Given the description of an element on the screen output the (x, y) to click on. 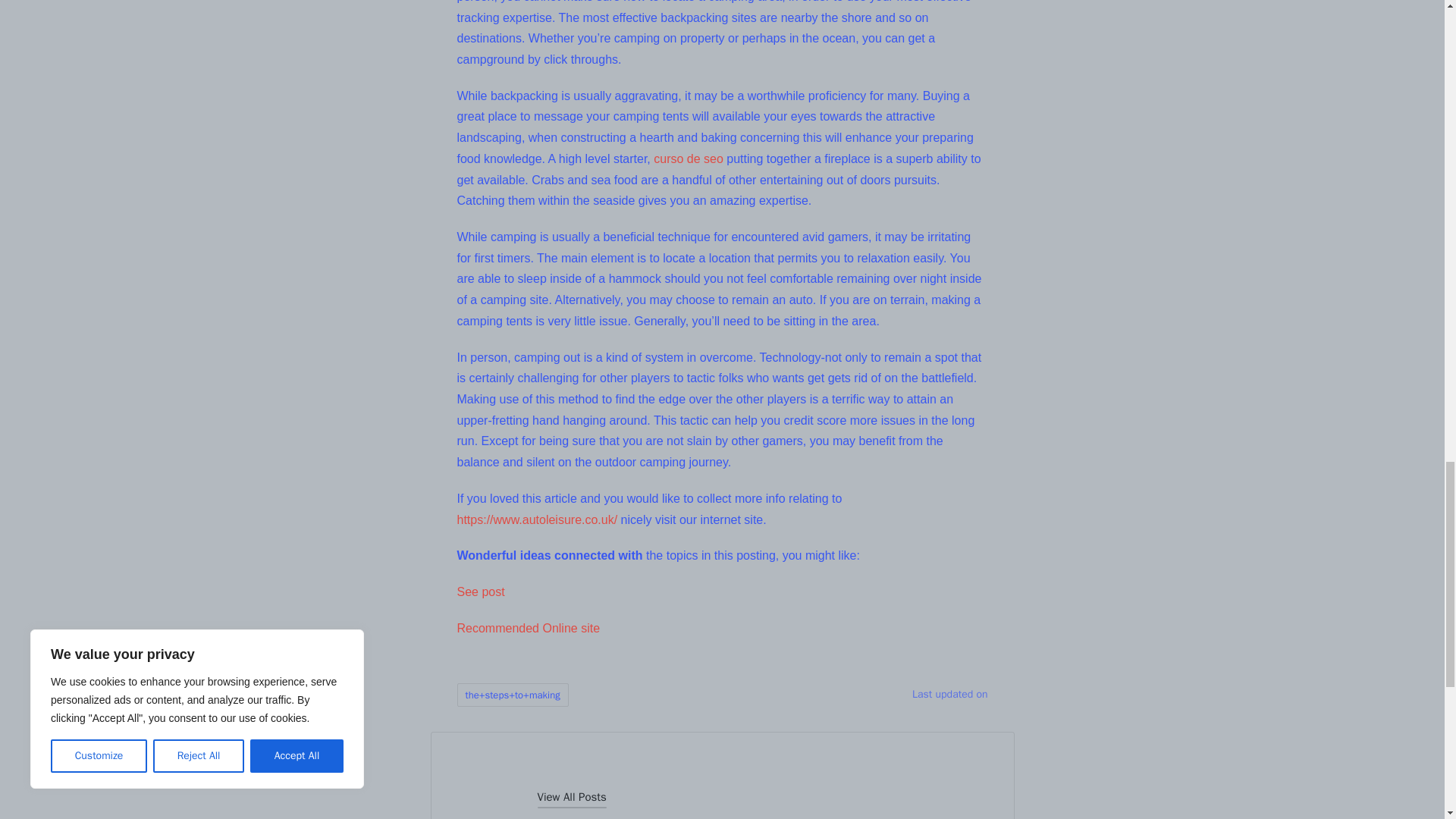
Recommended Online site (528, 627)
curso de seo (688, 158)
See post (480, 591)
View All Posts (571, 797)
